Given the description of an element on the screen output the (x, y) to click on. 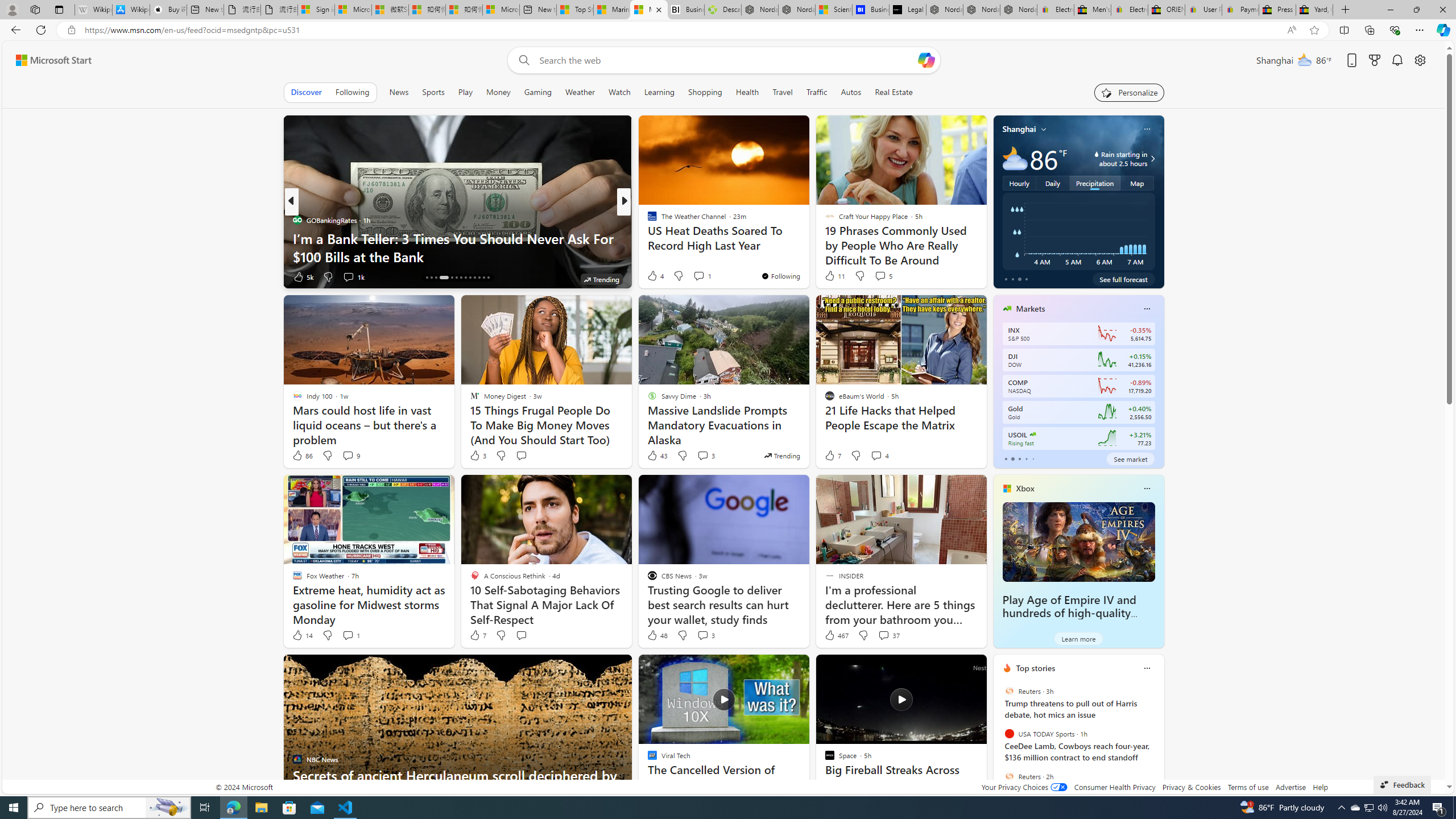
US Oil WTI (1032, 434)
View comments 2 Comment (702, 276)
Daily (1052, 183)
11 Like (834, 275)
View comments 4 Comment (879, 455)
View comments 3 Comment (703, 635)
Personalize your feed" (1129, 92)
Real Estate (893, 92)
View comments 5 Comment (882, 275)
Shopping (705, 92)
Payments Terms of Use | eBay.com (1240, 9)
